Given the description of an element on the screen output the (x, y) to click on. 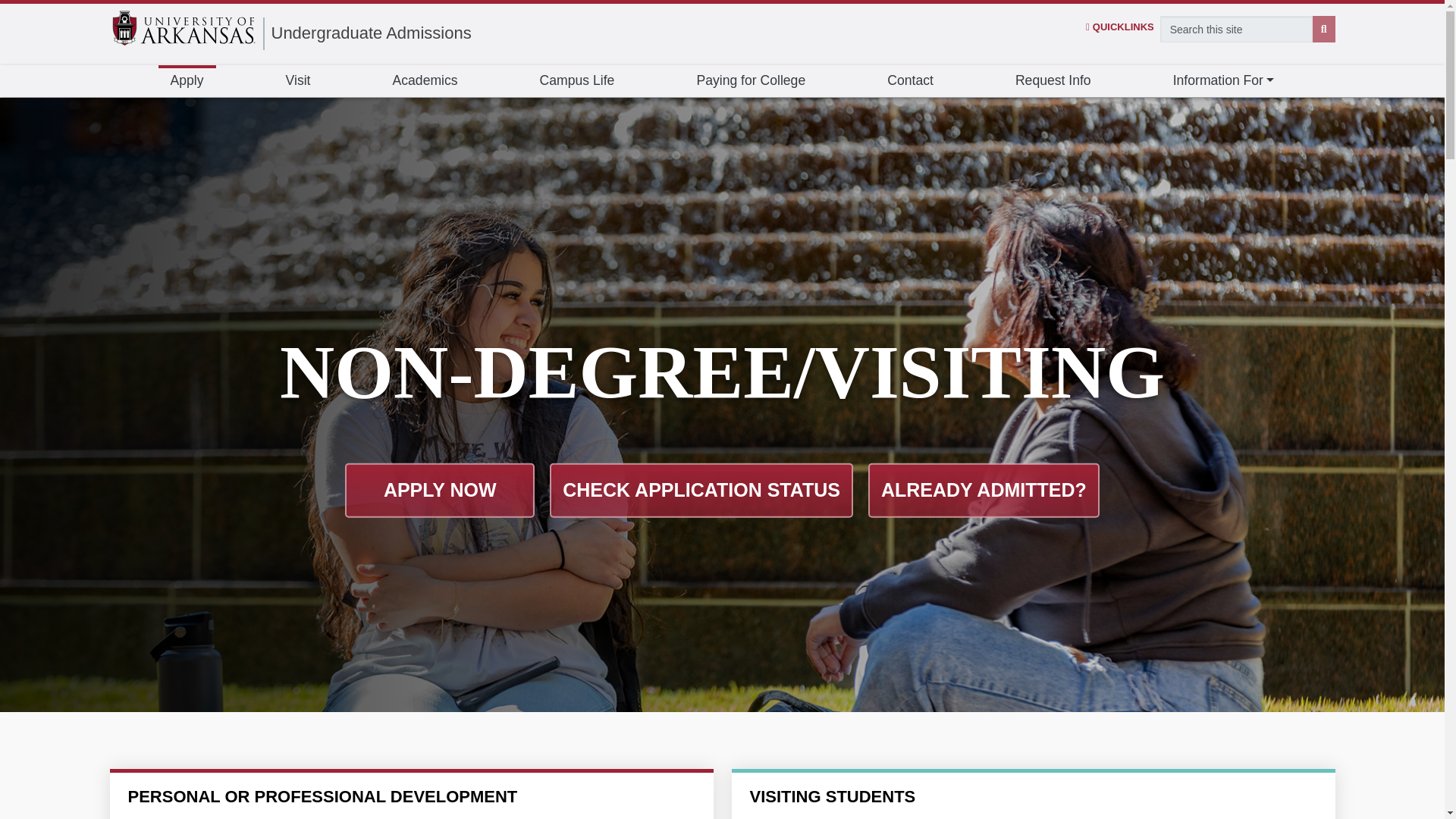
QUICKLINKS (1120, 26)
Undergraduate Admissions (370, 32)
